Given the description of an element on the screen output the (x, y) to click on. 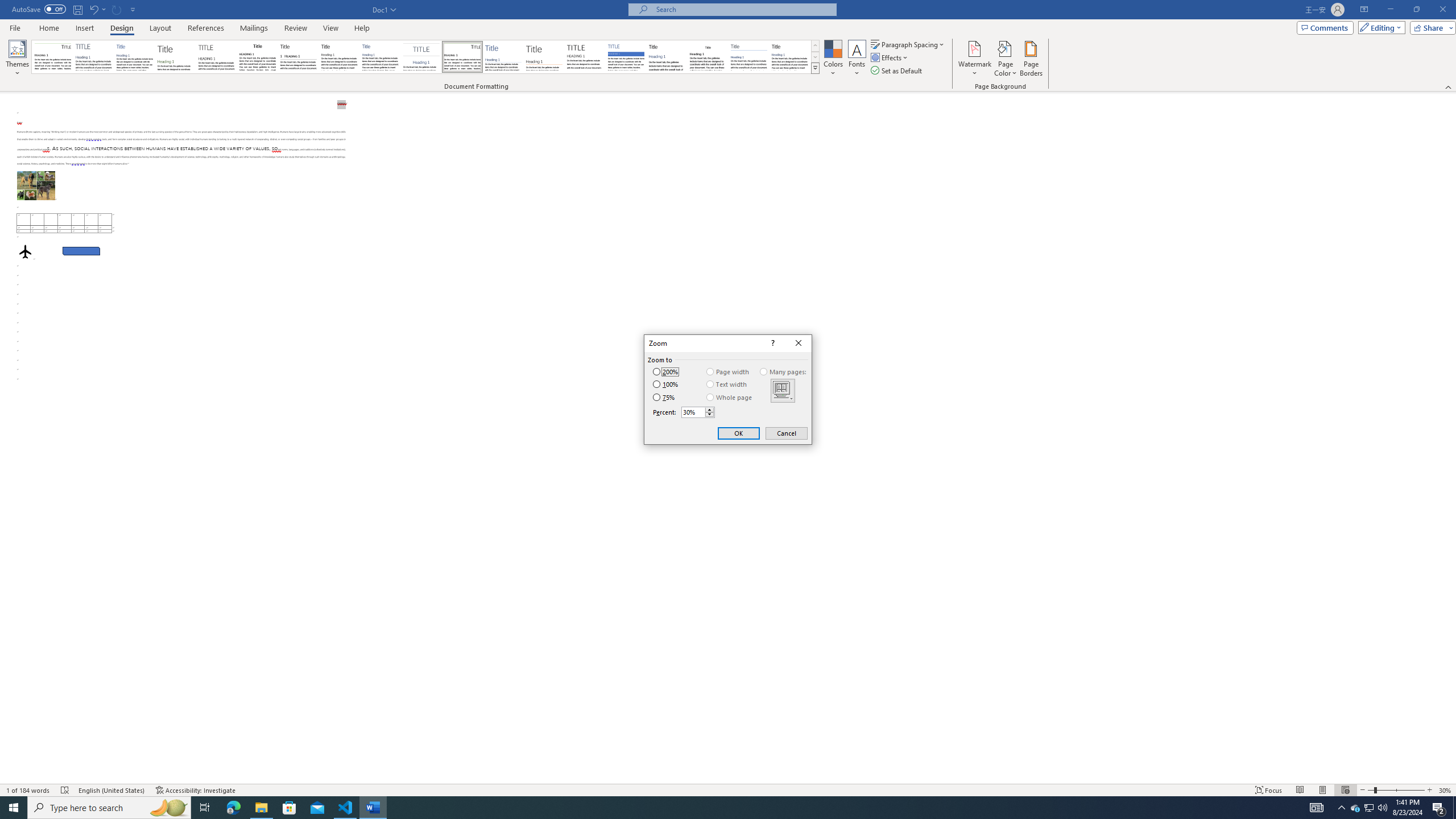
AutomationID: QuickStylesSets (425, 56)
Black & White (Classic) (257, 56)
Running applications (717, 807)
Document (52, 56)
Paragraph Spacing (908, 44)
Text width (727, 383)
Whole page (730, 396)
Undo Apply Quick Style Set (92, 9)
Word 2010 (749, 56)
